Given the description of an element on the screen output the (x, y) to click on. 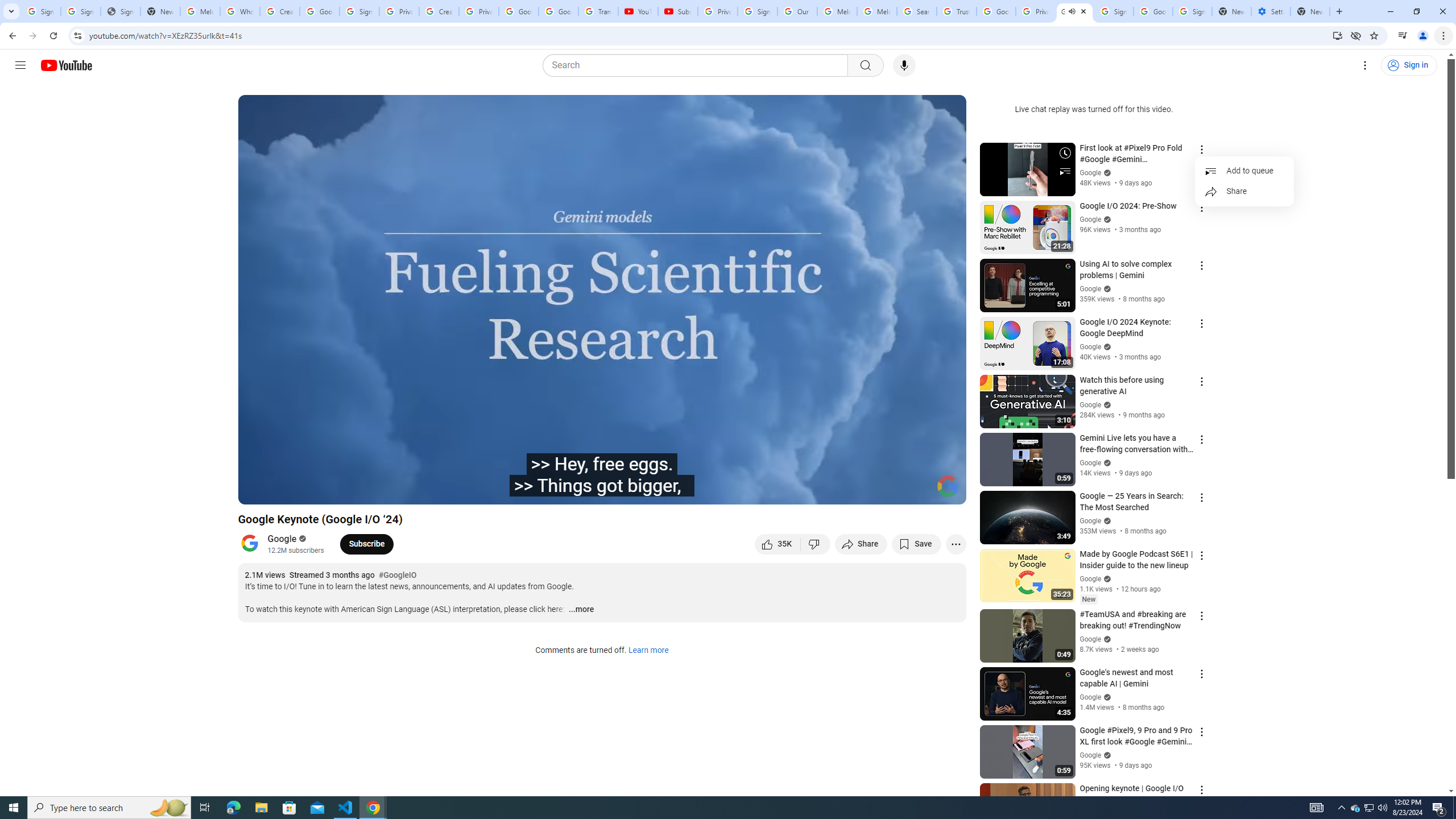
Sign in - Google Accounts (1113, 11)
YouTube Home (66, 65)
New (1087, 599)
Channel watermark (947, 486)
Sign in - Google Accounts (80, 11)
Dislike this video (815, 543)
Add to queue (1243, 171)
Pause (k) (257, 490)
